Given the description of an element on the screen output the (x, y) to click on. 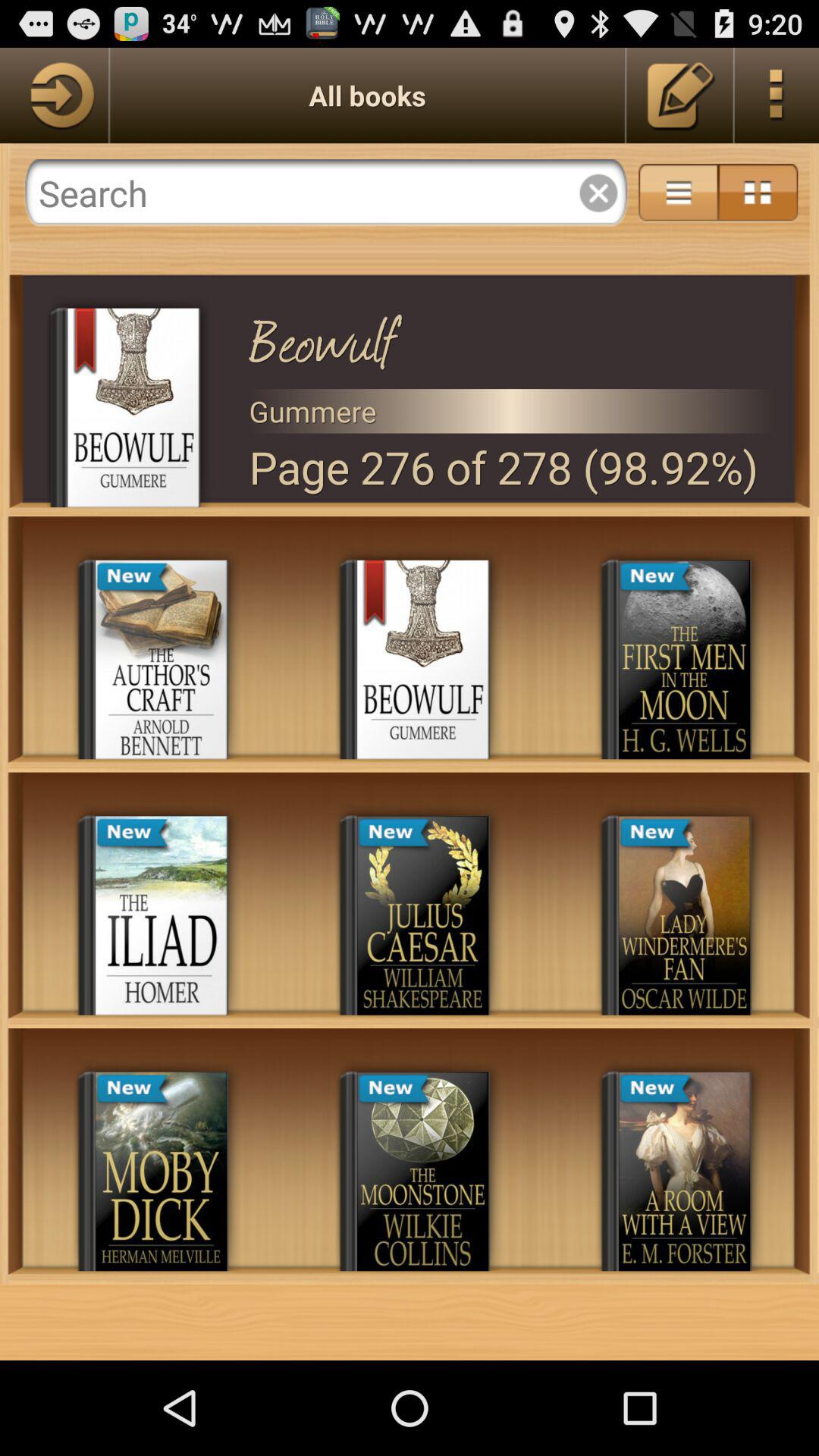
exit out (598, 192)
